Given the description of an element on the screen output the (x, y) to click on. 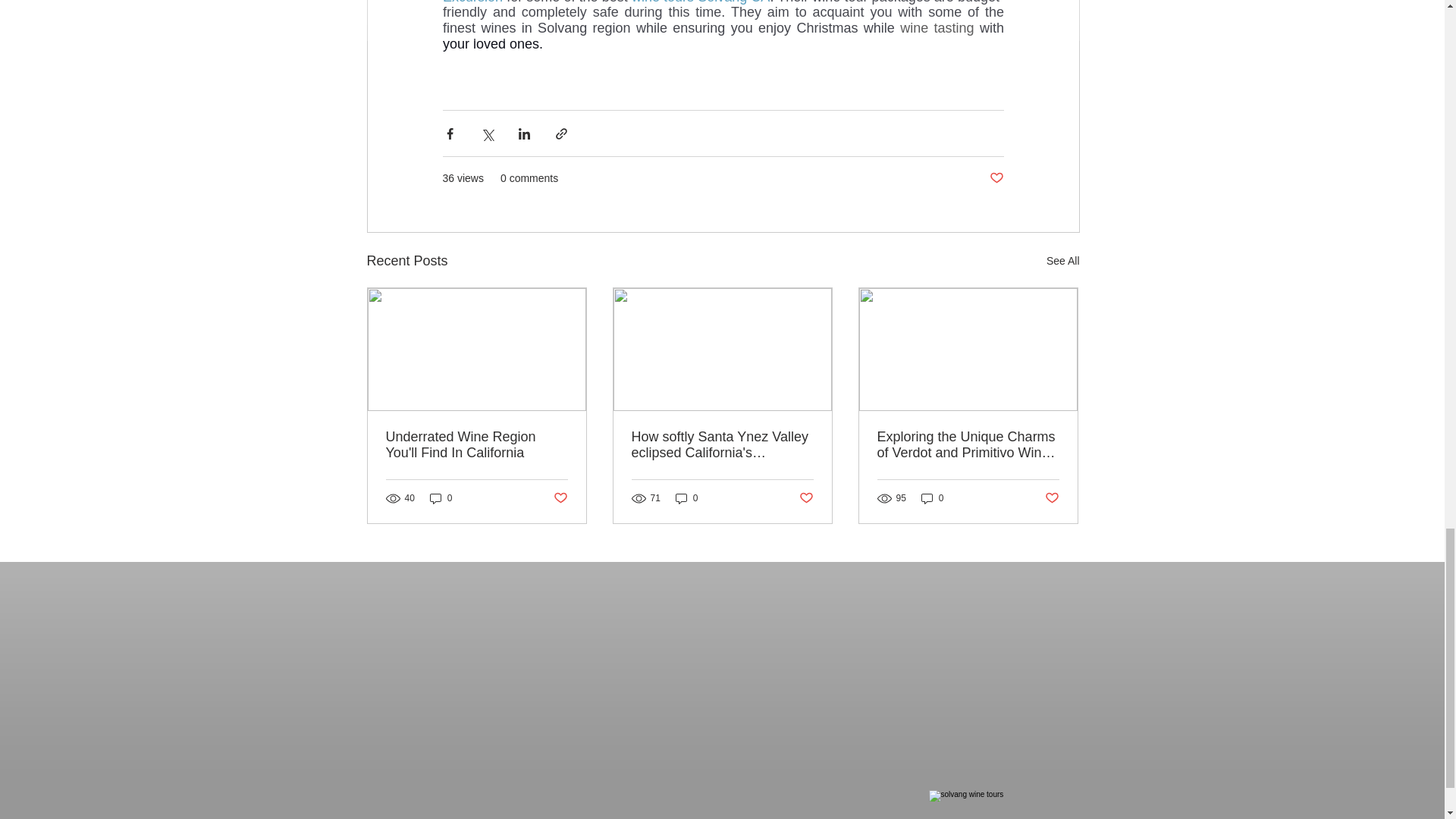
Post not marked as liked (560, 498)
Post not marked as liked (1052, 498)
Post not marked as liked (806, 498)
0 (687, 498)
Underrated Wine Region You'll Find In California (476, 445)
wine tours Solvang CA (699, 2)
Post not marked as liked (995, 178)
See All (1063, 260)
0 (932, 498)
0 (441, 498)
